Given the description of an element on the screen output the (x, y) to click on. 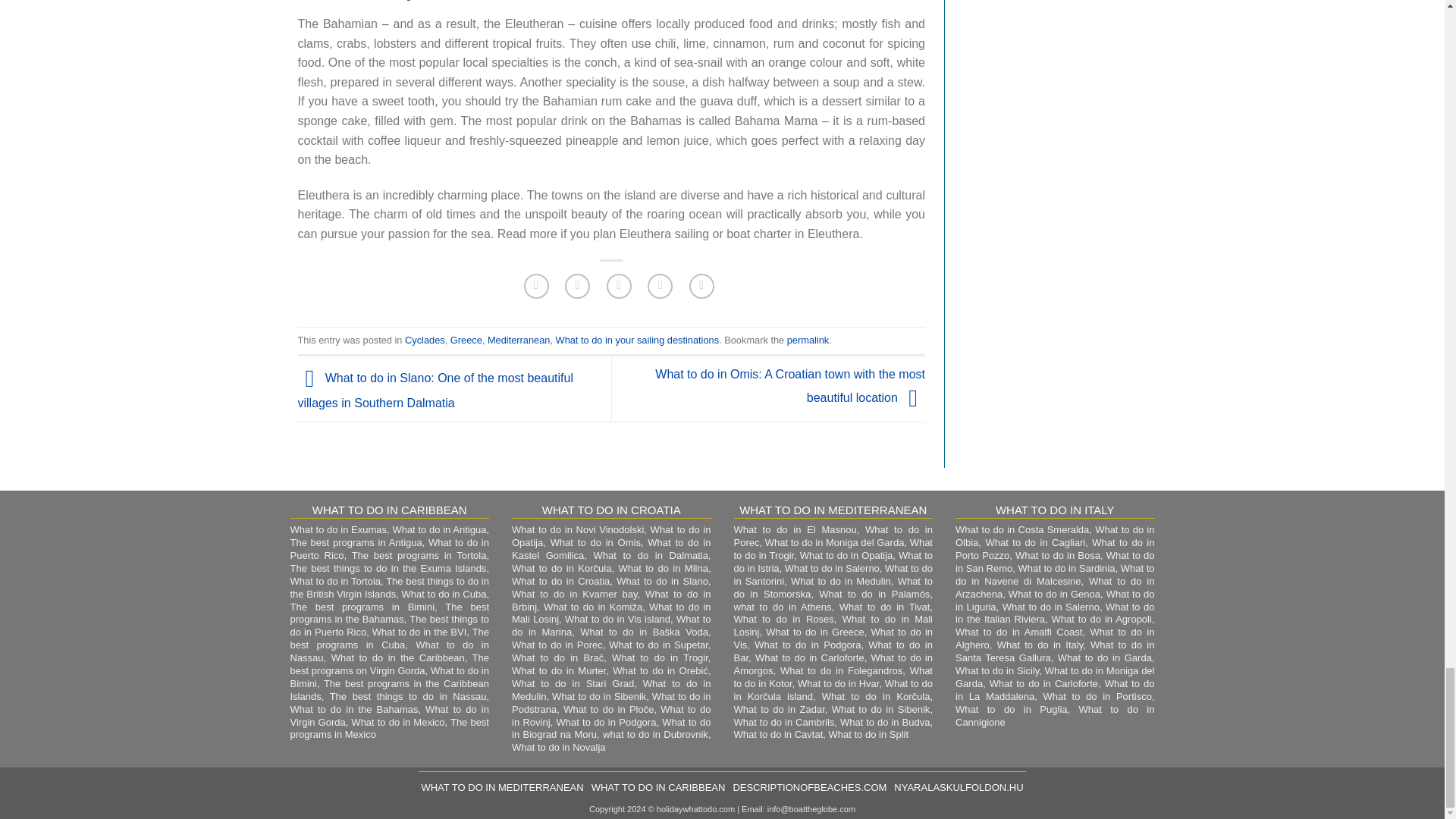
Cyclades (424, 339)
Permalink to What to do in Eleuthera (807, 339)
Share on Facebook (536, 285)
Share on Twitter (576, 285)
Share on LinkedIn (701, 285)
Pin on Pinterest (659, 285)
Greece (465, 339)
Email to a Friend (619, 285)
The best programs in Antigua (355, 542)
